Given the description of an element on the screen output the (x, y) to click on. 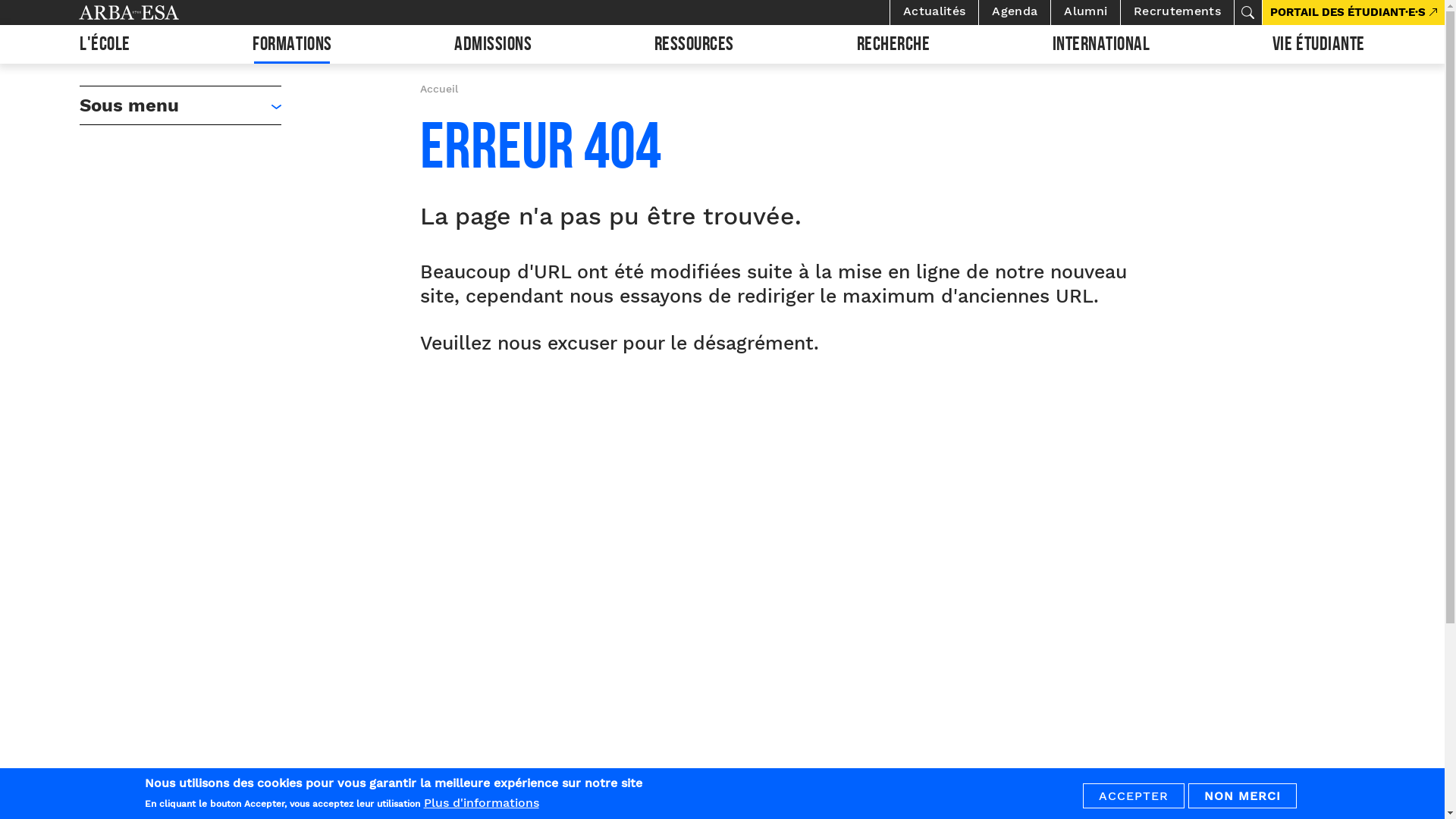
Alumni Element type: text (1085, 12)
RECHERCHE Element type: text (893, 44)
INTERNATIONAL Element type: text (1101, 44)
ACCEPTER Element type: text (1133, 795)
Recrutements Element type: text (1176, 12)
Accueil Element type: text (439, 88)
Rechercher Element type: text (1247, 12)
Agenda Element type: text (1014, 12)
NON MERCI Element type: text (1241, 795)
ADMISSIONS Element type: text (492, 44)
Plus d'informations Element type: text (480, 802)
FORMATIONS Element type: text (291, 44)
Arba ESA Element type: text (154, 12)
RESSOURCES Element type: text (694, 44)
